Given the description of an element on the screen output the (x, y) to click on. 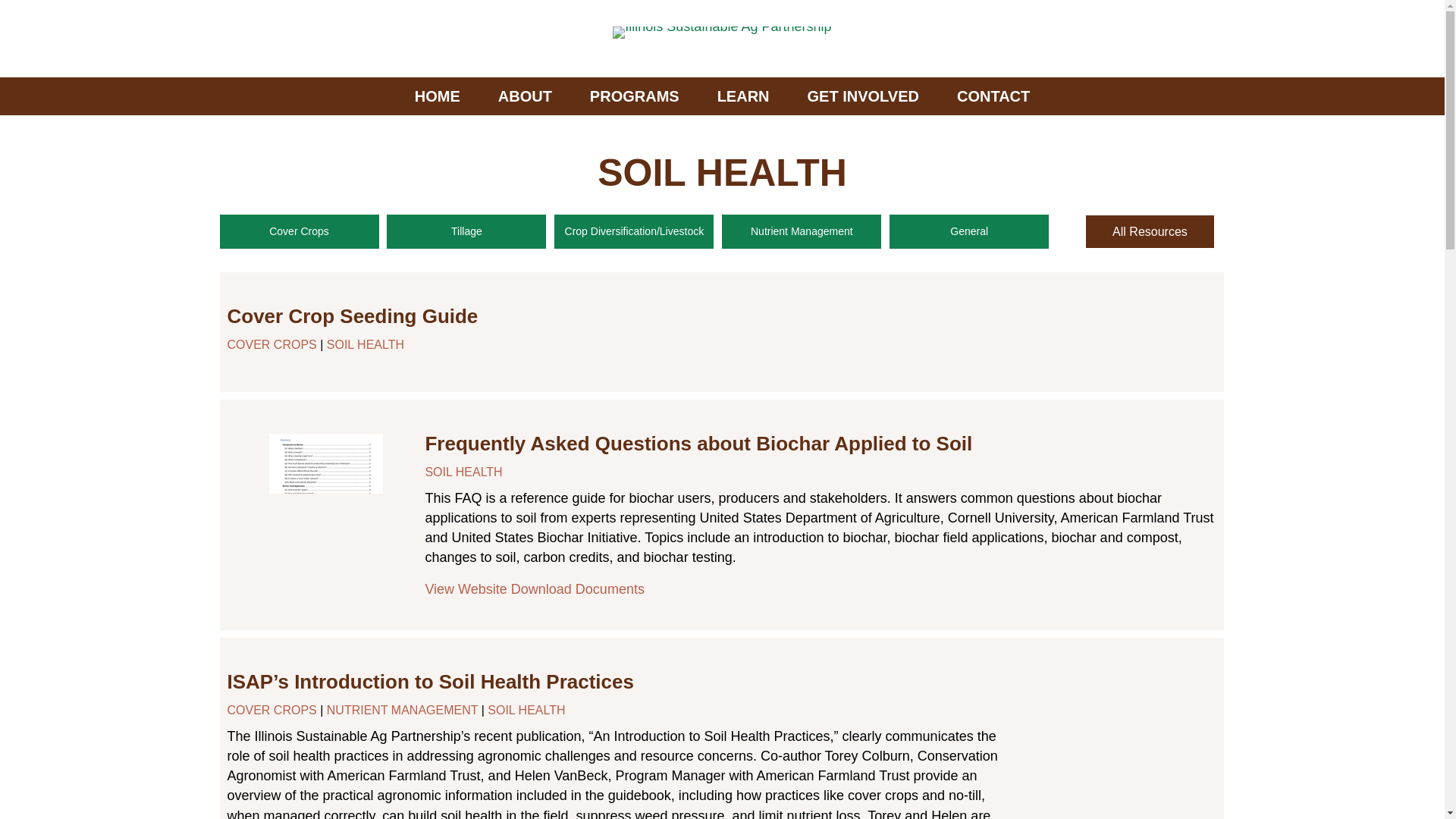
PROGRAMS (634, 95)
Nutrient Management (801, 231)
GET INVOLVED (863, 95)
CONTACT (992, 95)
Header Logo (721, 32)
YouTube (1140, 40)
LEARN (743, 95)
Search (1210, 40)
ABOUT (524, 95)
Cover Crops (298, 231)
